Given the description of an element on the screen output the (x, y) to click on. 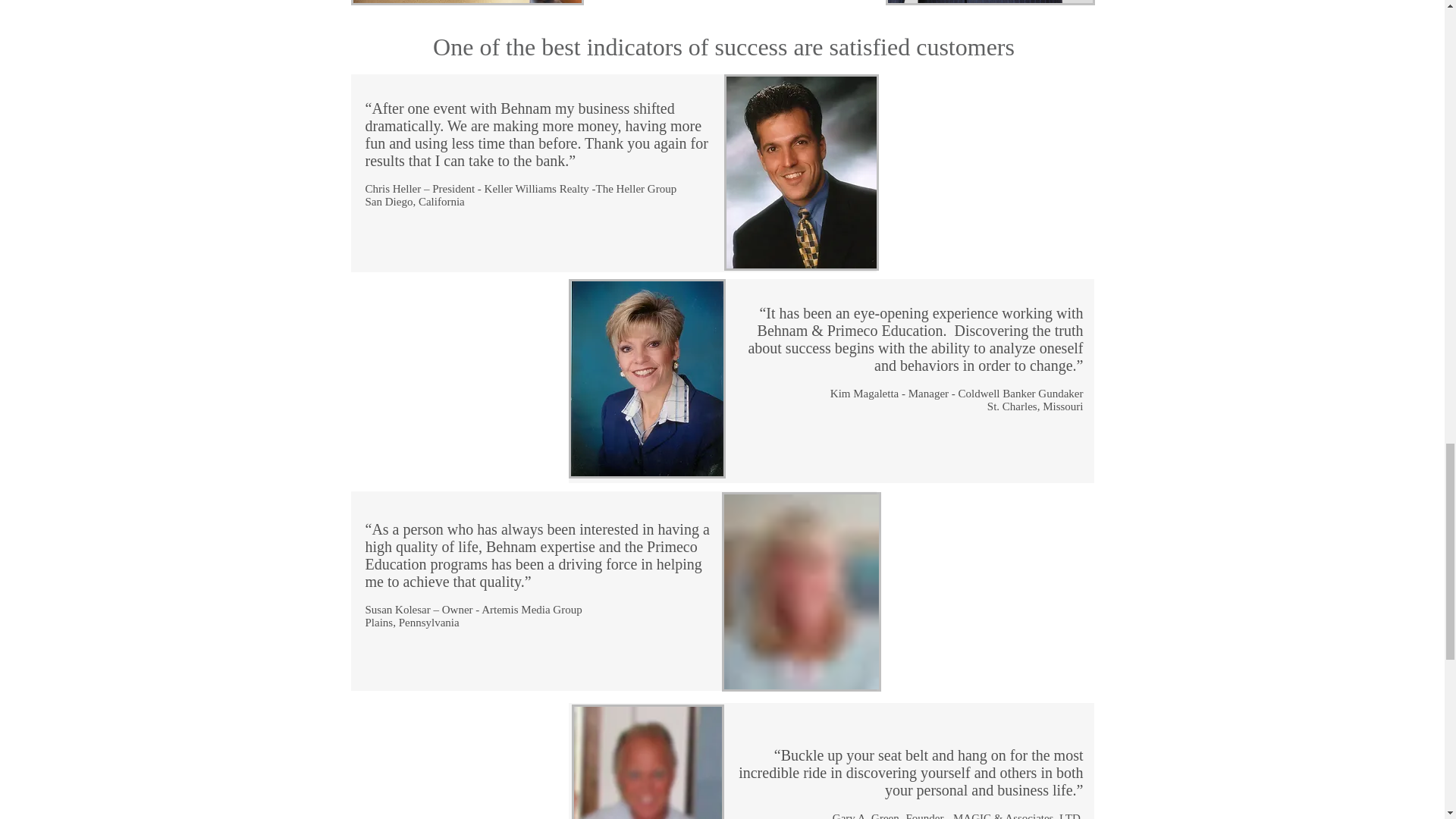
Happy Customer (647, 378)
Happy Customer (647, 761)
Happy Customer (801, 591)
Happy Customer (800, 172)
Keynote Speaking (466, 2)
Coach Behnam Delivering a Keynot Speaking (989, 2)
